Given the description of an element on the screen output the (x, y) to click on. 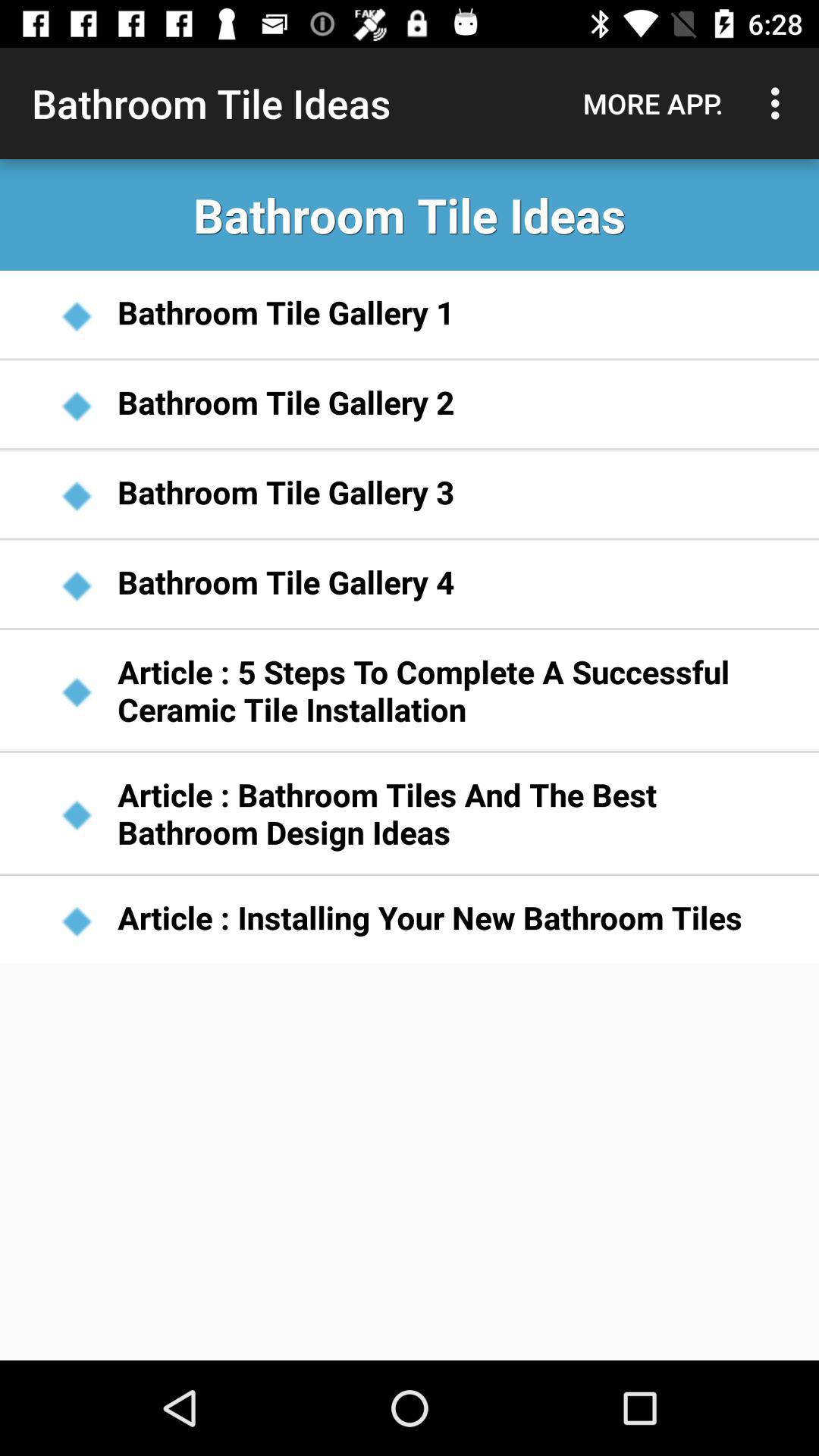
select icon to the right of more app. icon (779, 103)
